Given the description of an element on the screen output the (x, y) to click on. 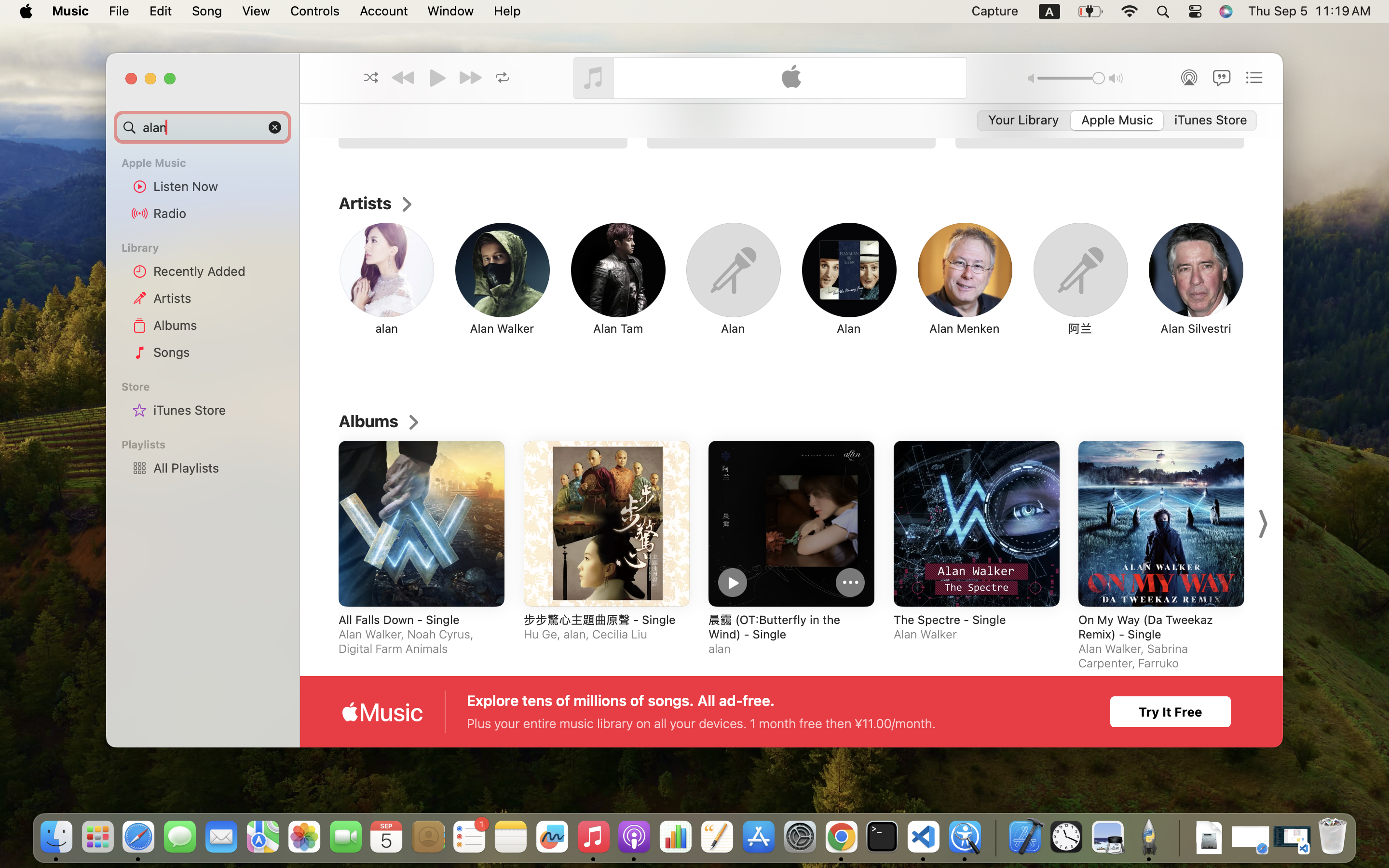
Alan Menken Element type: AXStaticText (964, 328)
Plus your entire music library on all your devices. 1 month free then ¥11.00/month. Element type: AXStaticText (701, 723)
Songs Element type: AXStaticText (217, 351)
Alan Tam Element type: AXStaticText (1100, 82)
Alan Walker Element type: AXStaticText (501, 328)
